Given the description of an element on the screen output the (x, y) to click on. 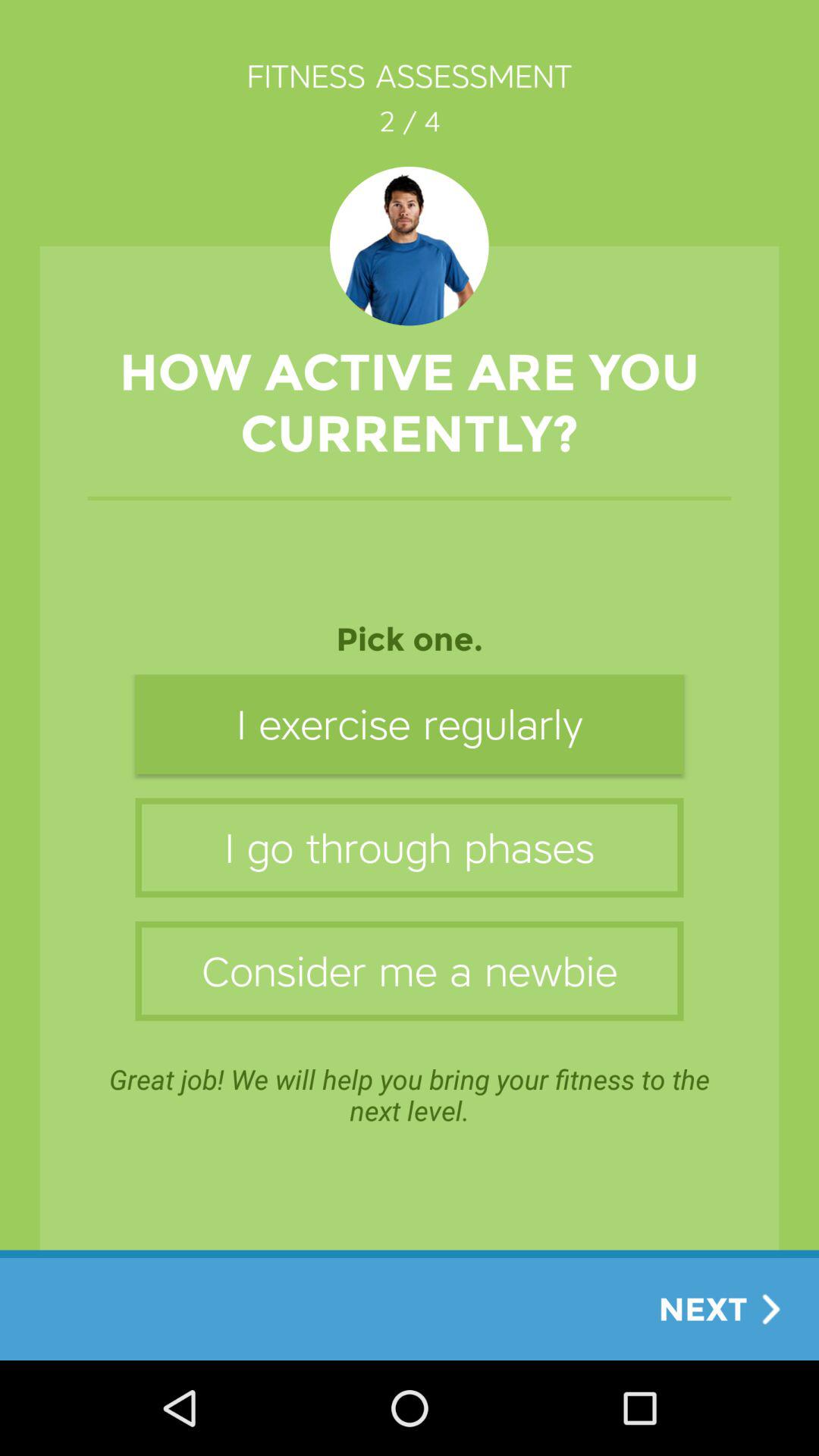
open icon above the great job we item (409, 970)
